Given the description of an element on the screen output the (x, y) to click on. 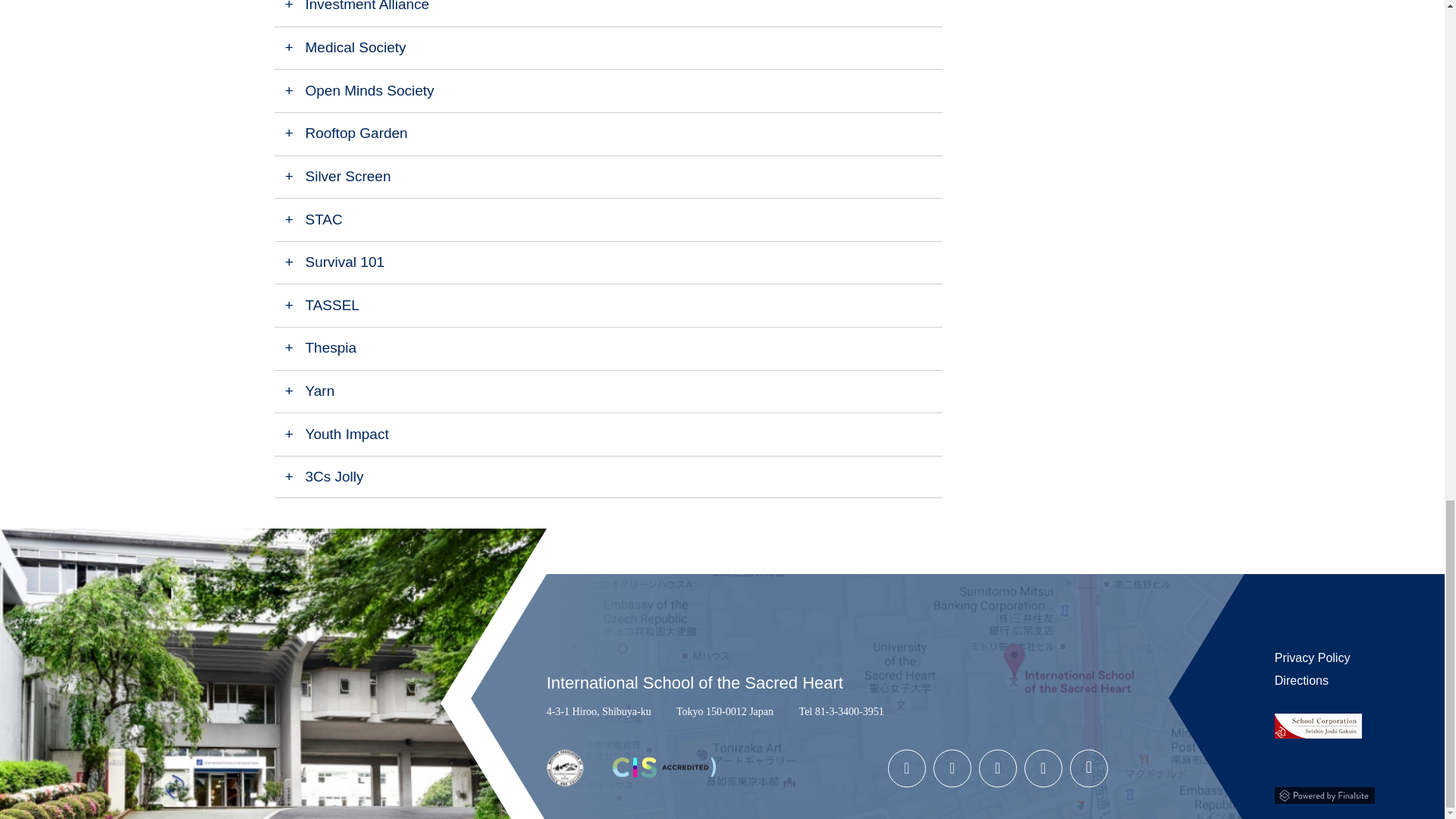
CIS LINK (664, 775)
WASC link (565, 782)
Powered by Finalsite opens in a new window (1324, 792)
